Given the description of an element on the screen output the (x, y) to click on. 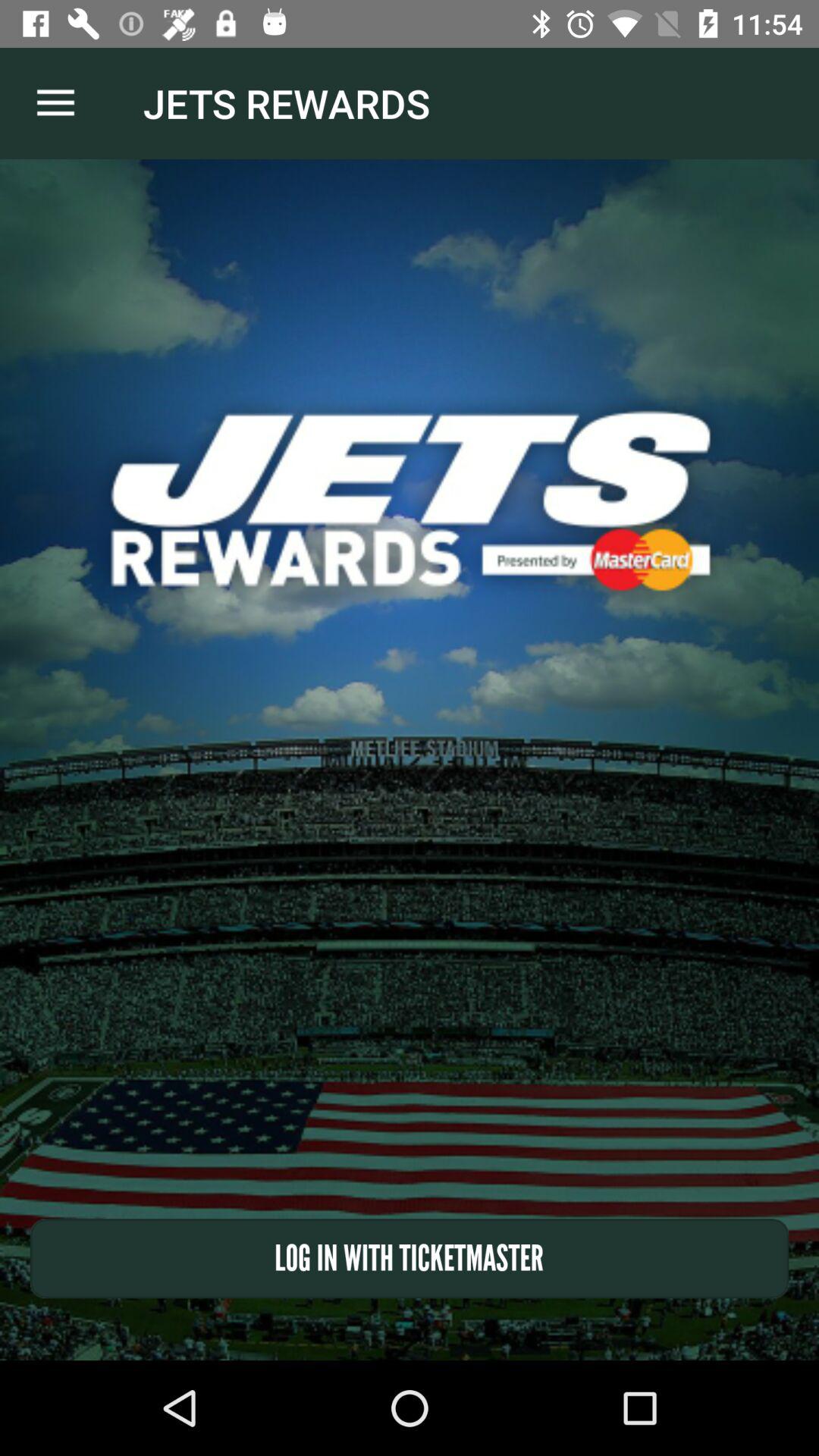
tap icon to the left of jets rewards item (55, 103)
